Given the description of an element on the screen output the (x, y) to click on. 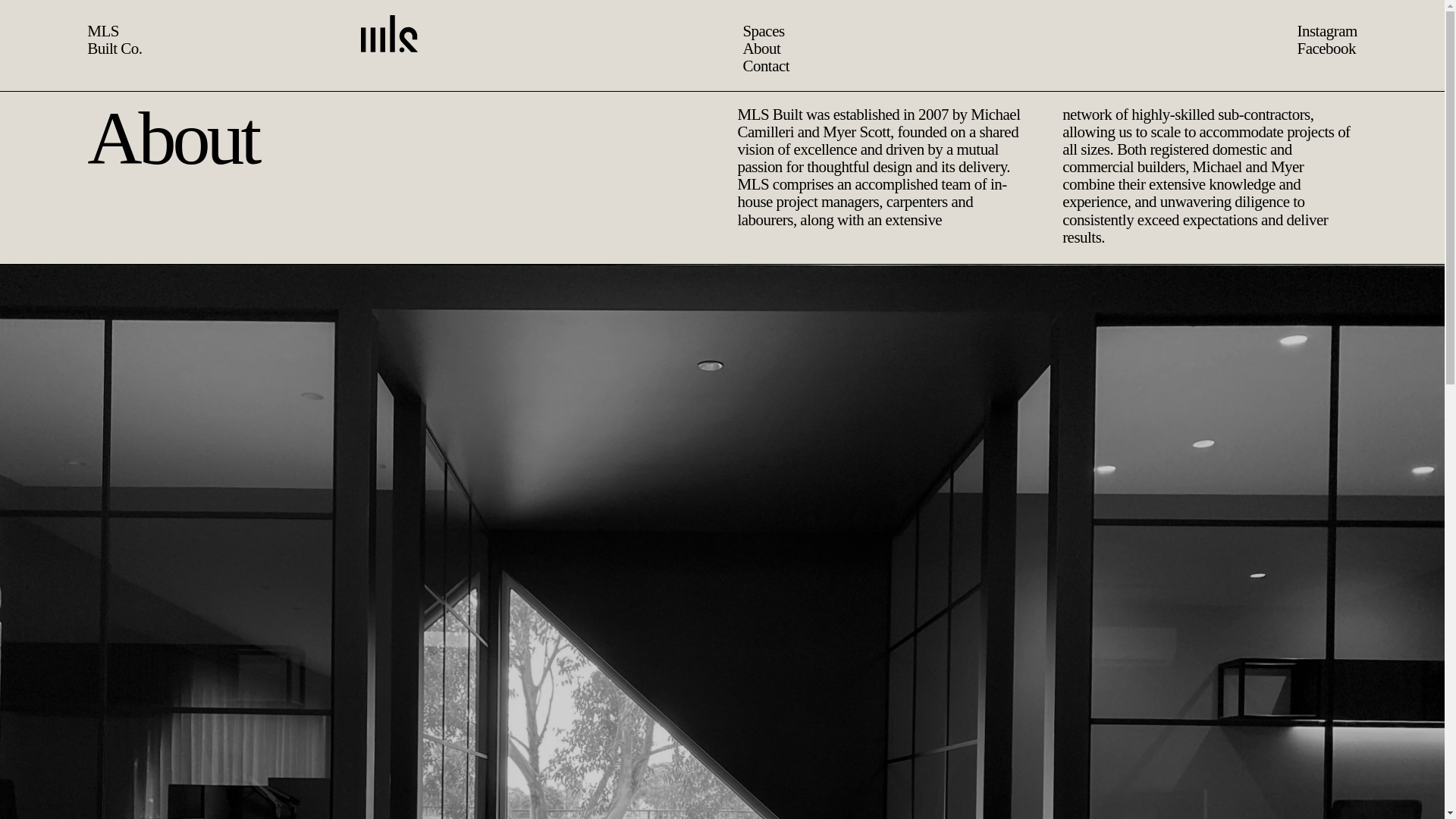
Instagram Element type: text (1326, 30)
Built Co. Element type: text (114, 48)
About Element type: text (717, 48)
Spaces Element type: text (719, 30)
MLS Element type: text (103, 30)
Facebook Element type: text (1325, 48)
Contact Element type: text (722, 65)
